Given the description of an element on the screen output the (x, y) to click on. 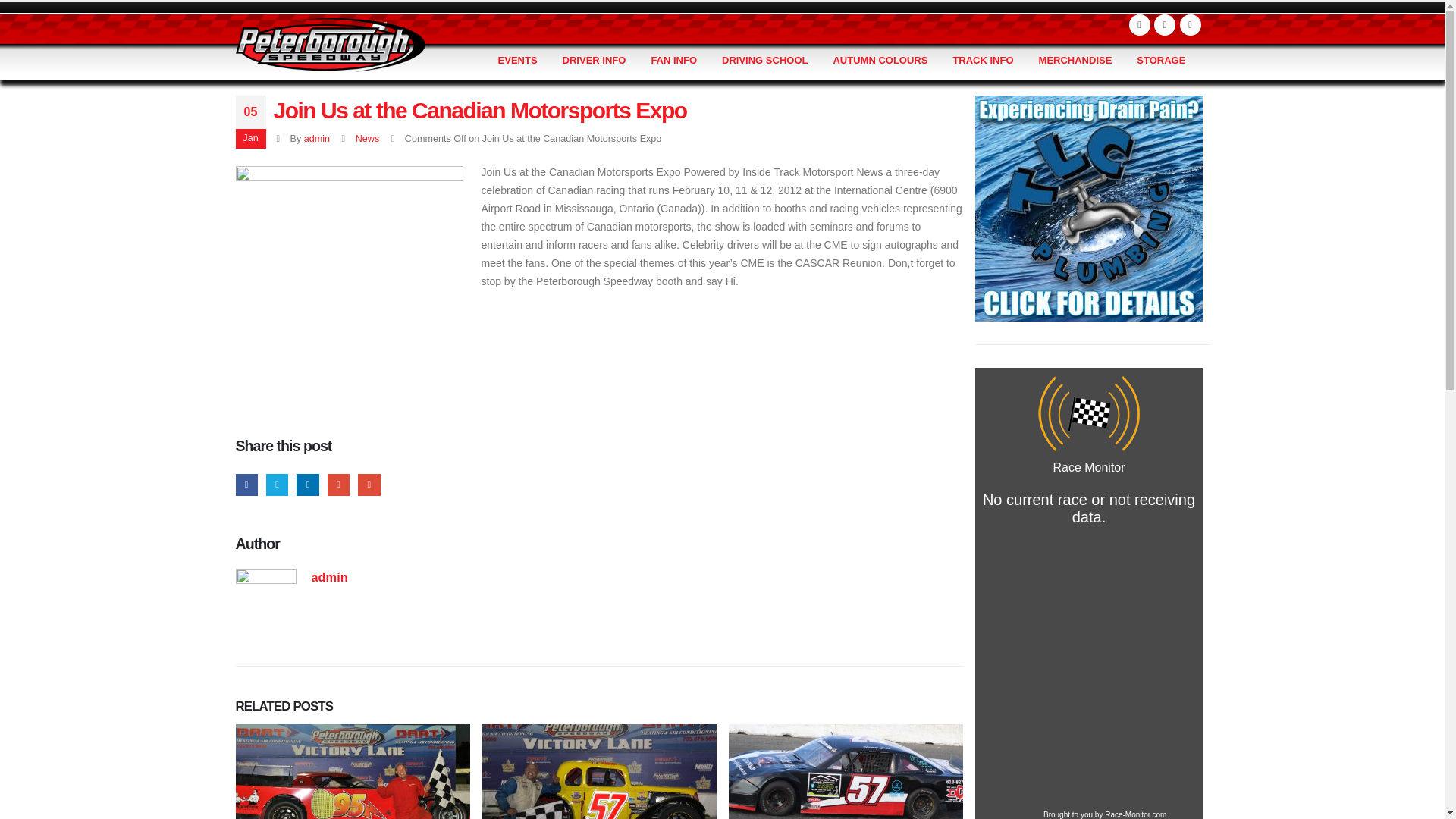
CME300x300 (348, 279)
Youtube (1164, 25)
AUTUMN COLOURS (880, 60)
Posts by admin (317, 138)
Posts by admin (329, 576)
DRIVING SCHOOL (764, 60)
EVENTS (518, 60)
FAN INFO (674, 60)
DRIVER INFO (594, 60)
Peterborough Speedway -  (329, 44)
Instagram (1190, 25)
Facebook (1139, 25)
